Given the description of an element on the screen output the (x, y) to click on. 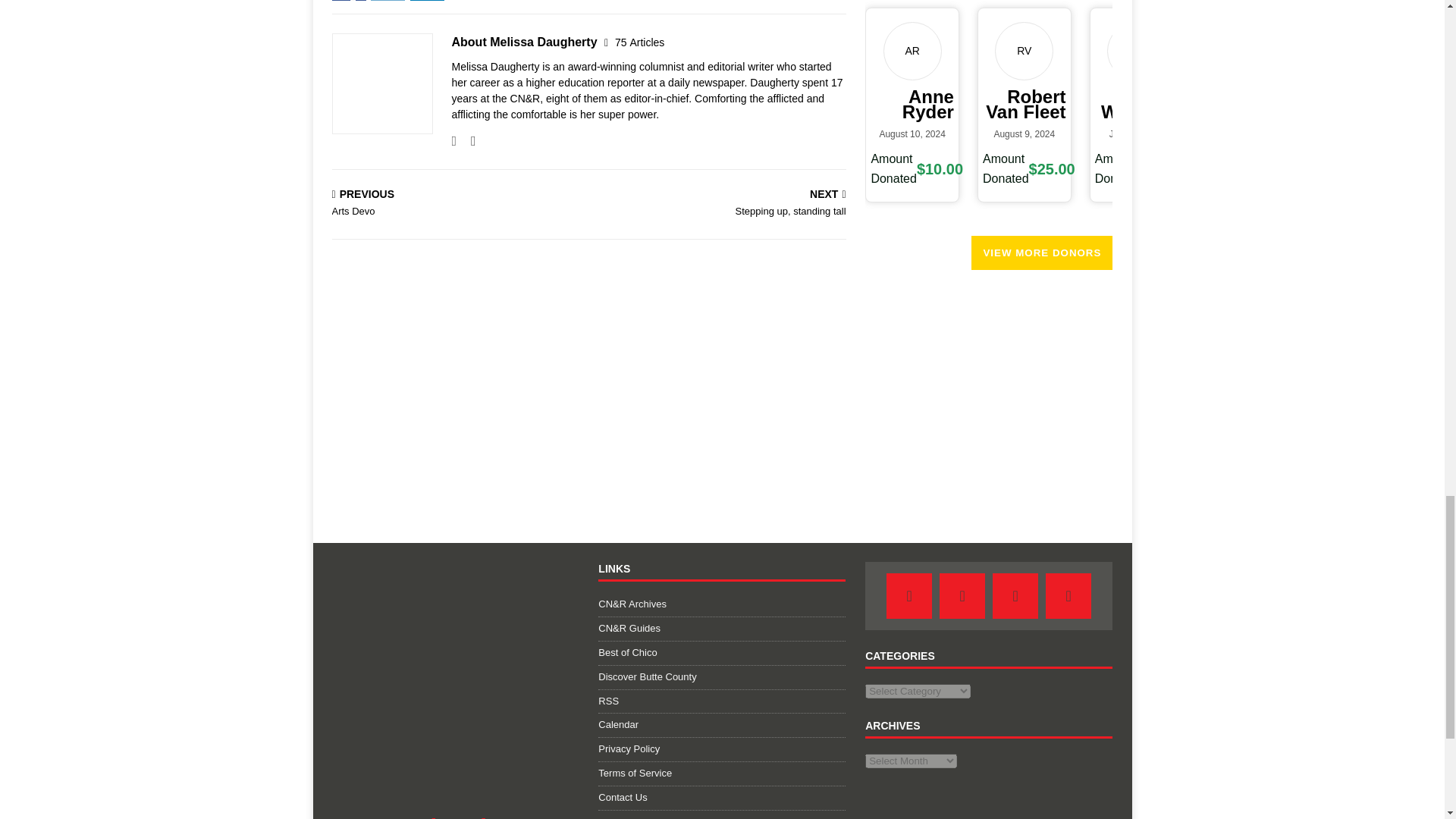
Follow Melissa Daugherty on Twitter (468, 141)
3rd party ad content (978, 391)
More articles written by Melissa Daugherty' (638, 42)
